Given the description of an element on the screen output the (x, y) to click on. 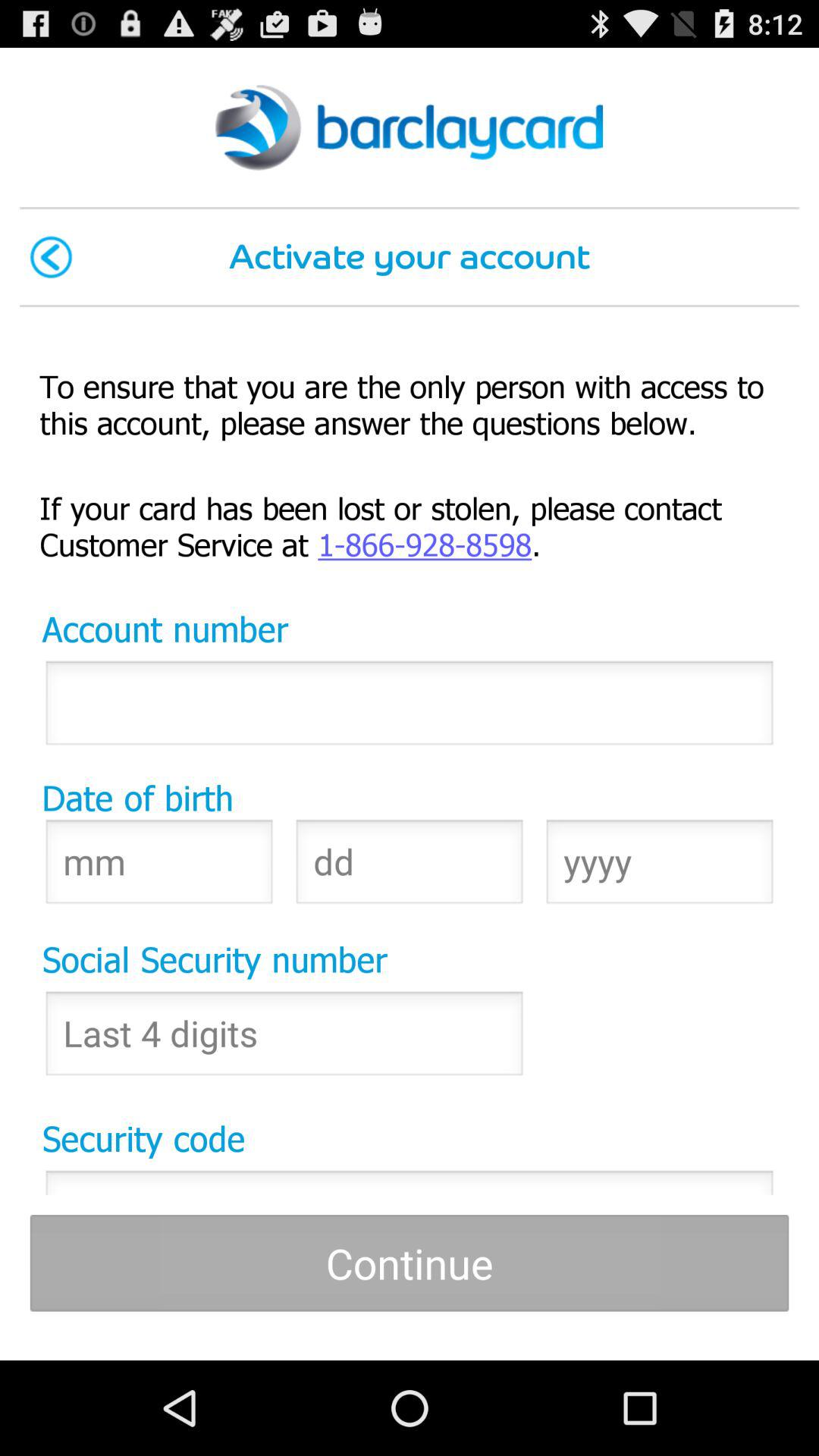
select the item to the left of activate your account icon (50, 256)
